Given the description of an element on the screen output the (x, y) to click on. 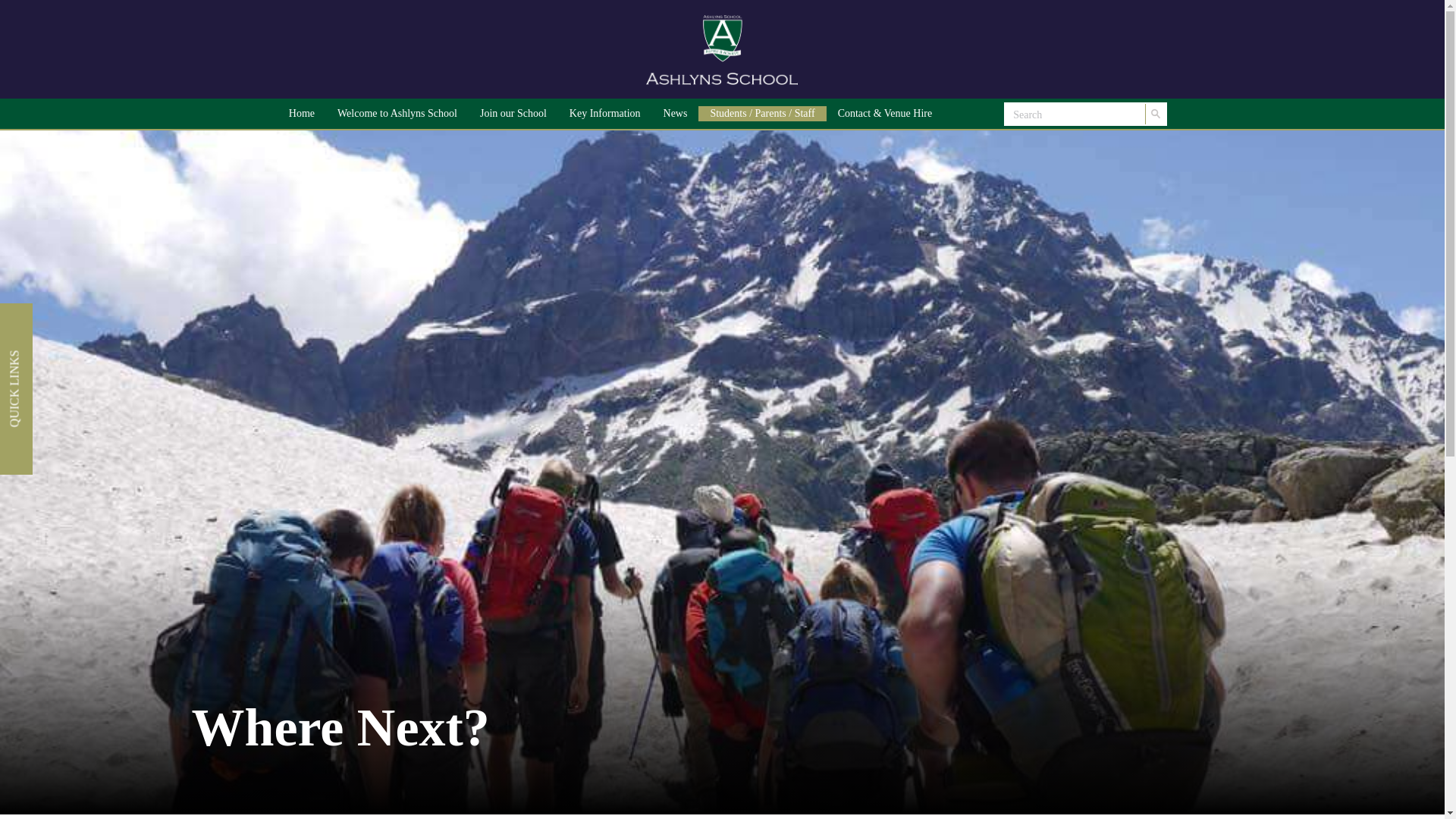
Join our School (512, 113)
Welcome to Ashlyns School (397, 113)
Home (302, 113)
Key Information (604, 113)
News (675, 113)
